Given the description of an element on the screen output the (x, y) to click on. 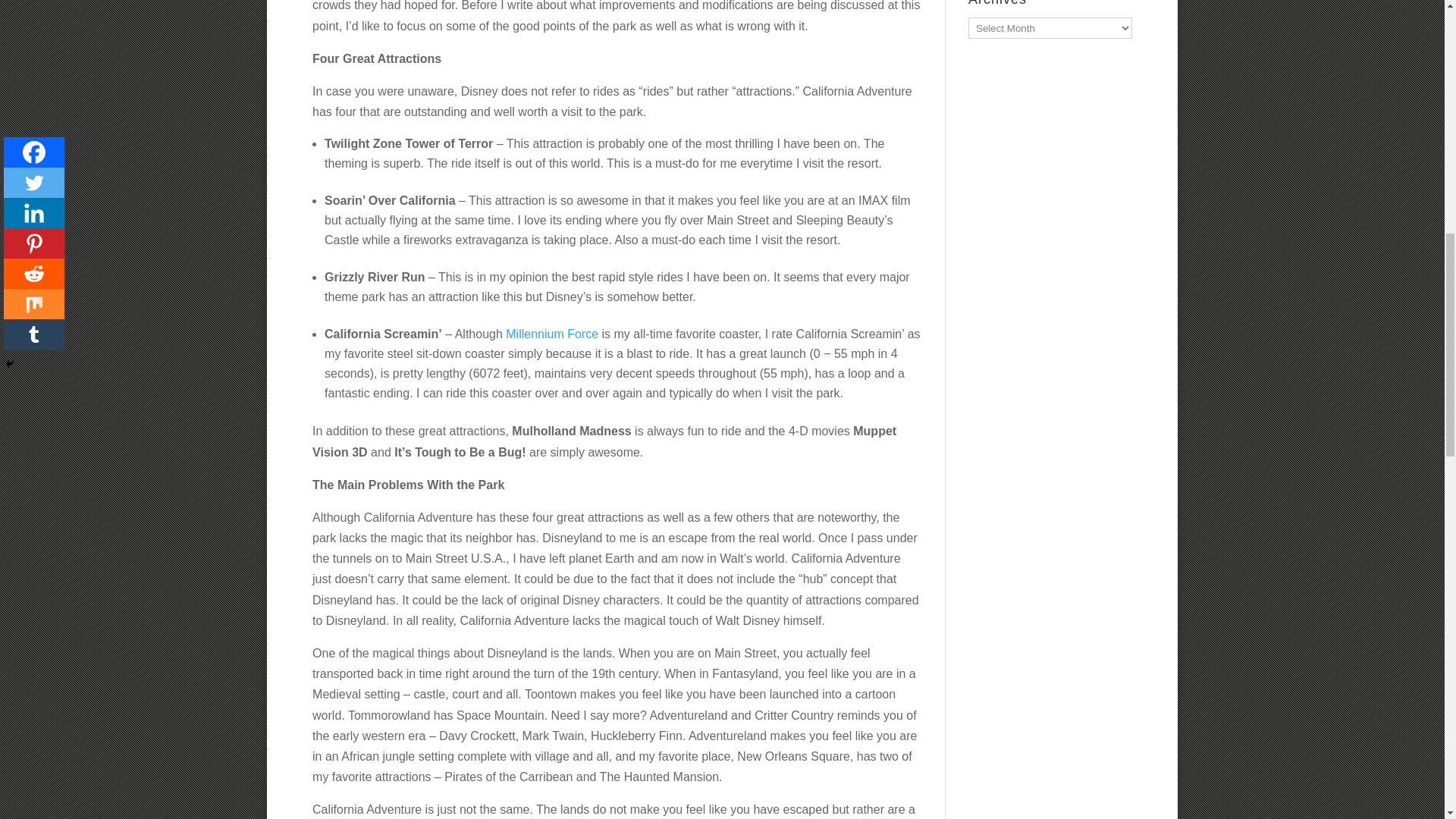
Millennium Force (551, 333)
